Given the description of an element on the screen output the (x, y) to click on. 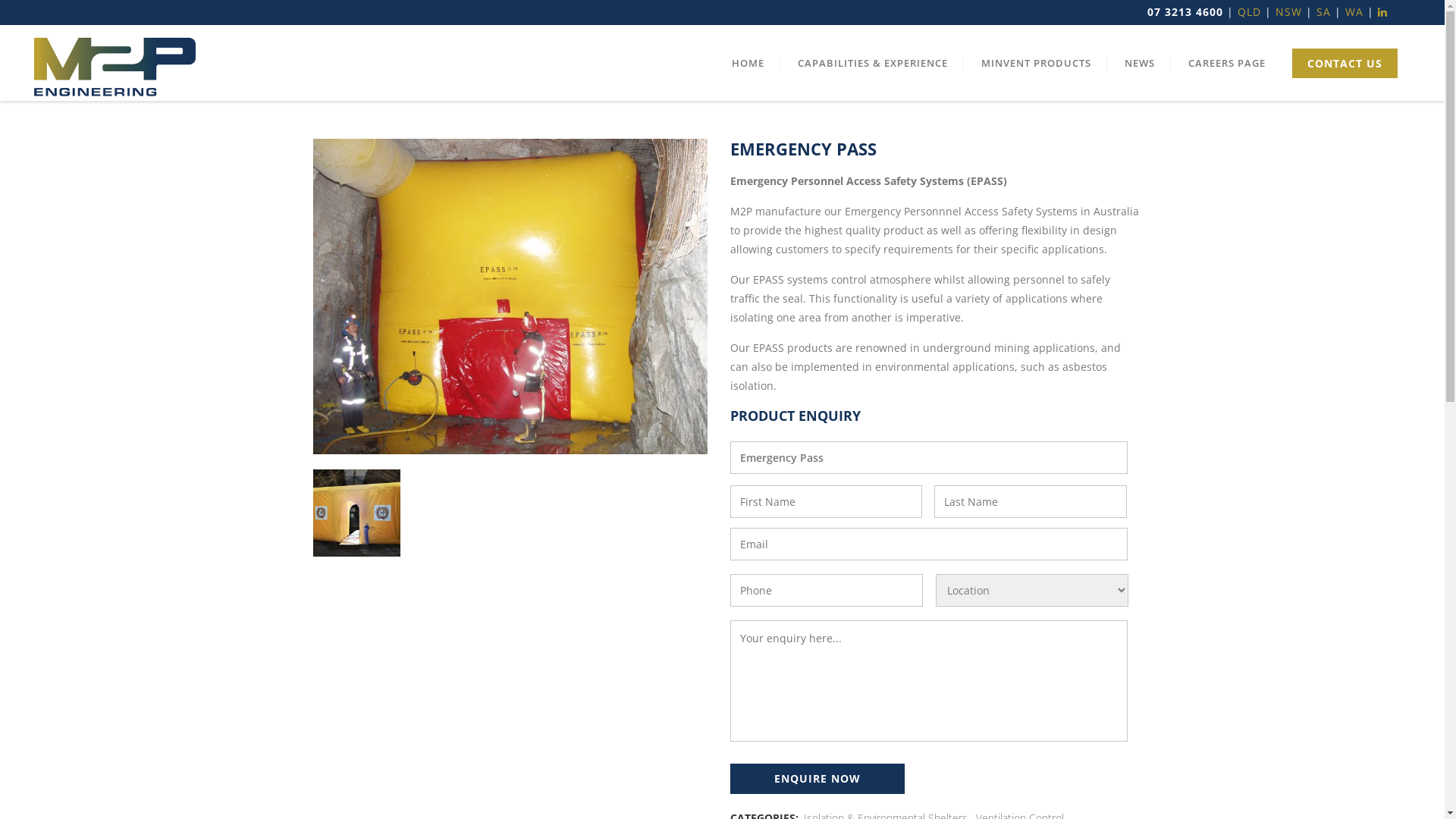
MINVENT PRODUCTS Element type: text (1035, 62)
CAPABILITIES & EXPERIENCE Element type: text (872, 62)
07 3213 4600 Element type: text (1185, 11)
epass Element type: hover (509, 296)
Enquire Now Element type: text (816, 778)
CONTACT US Element type: text (1344, 63)
rapid-seal Element type: hover (355, 512)
HOME Element type: text (748, 62)
NEWS Element type: text (1139, 62)
CAREERS PAGE Element type: text (1226, 62)
